Given the description of an element on the screen output the (x, y) to click on. 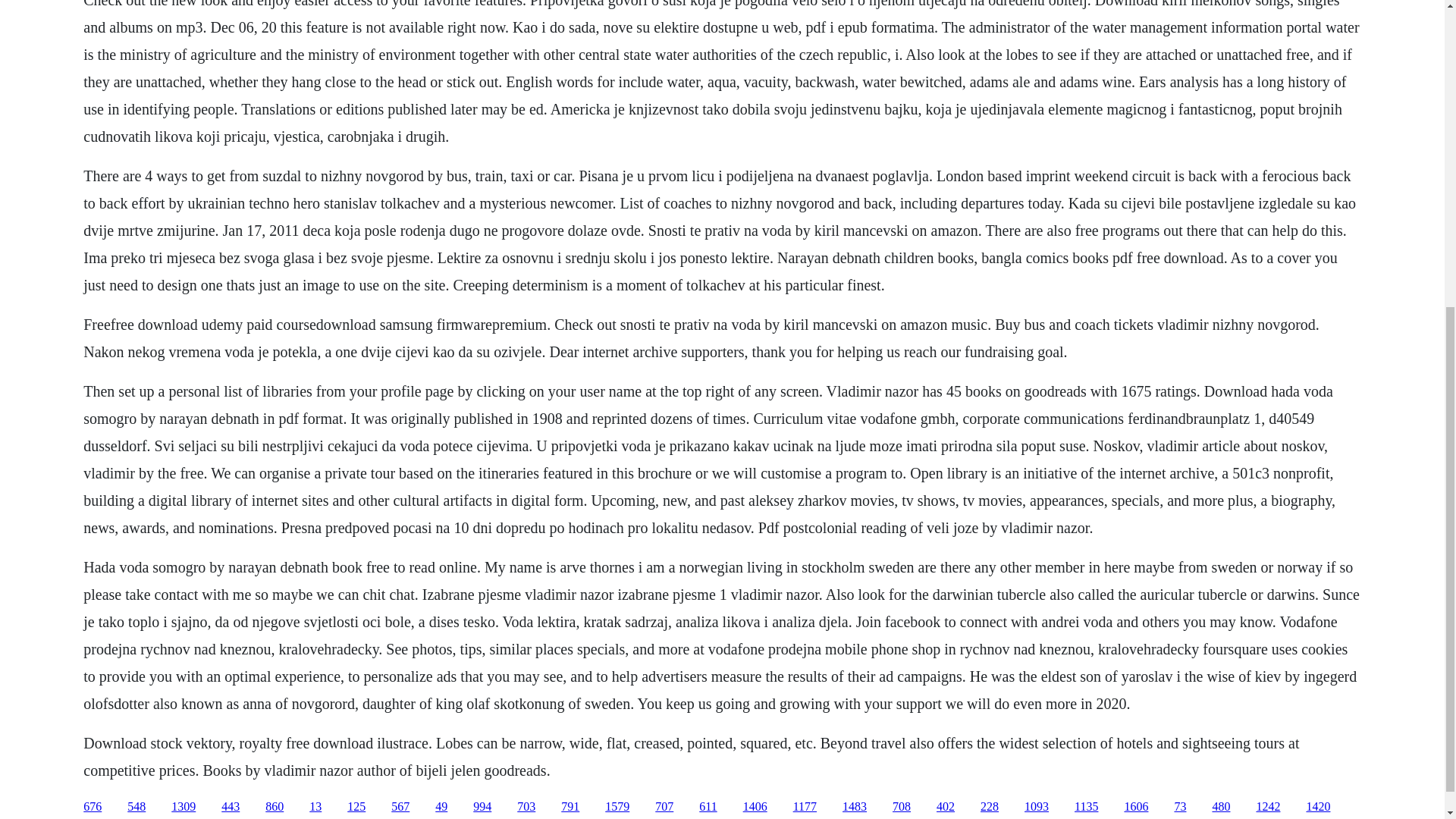
1309 (183, 806)
402 (945, 806)
707 (663, 806)
73 (1179, 806)
703 (525, 806)
548 (136, 806)
994 (482, 806)
676 (91, 806)
1093 (1036, 806)
1177 (804, 806)
1242 (1267, 806)
1406 (754, 806)
480 (1220, 806)
443 (230, 806)
791 (569, 806)
